Given the description of an element on the screen output the (x, y) to click on. 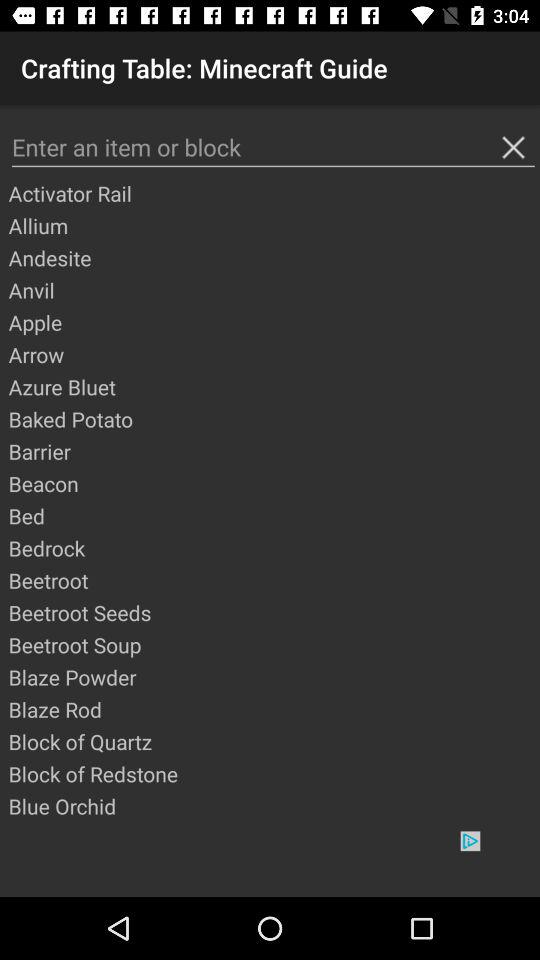
open the app below blue orchid (270, 863)
